Given the description of an element on the screen output the (x, y) to click on. 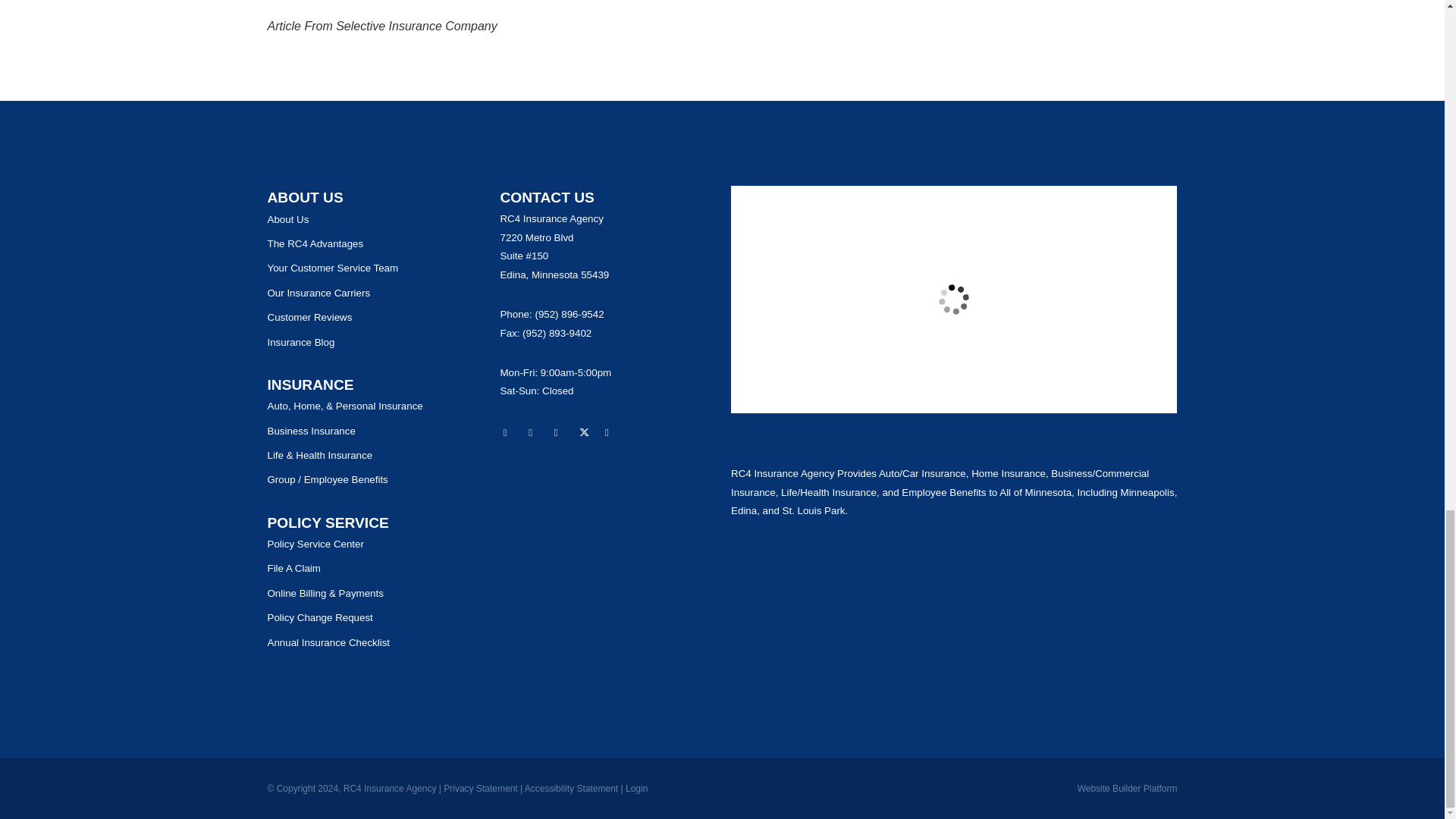
LinkedIn (612, 433)
Yelp (535, 433)
Google Maps (509, 433)
Facebook (561, 433)
X (586, 433)
